Given the description of an element on the screen output the (x, y) to click on. 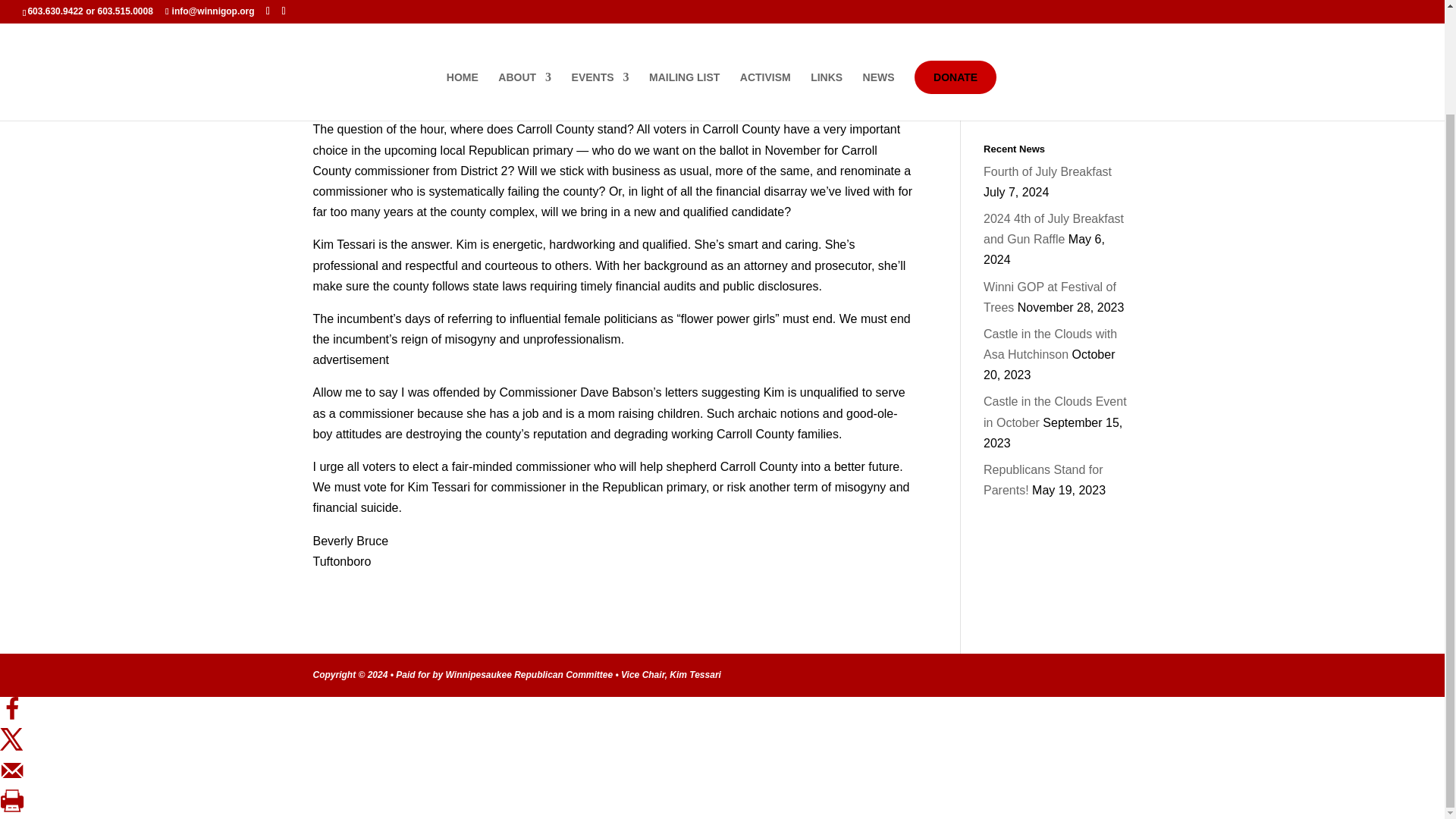
Search (1106, 20)
Share on X (12, 747)
2024 4th of July Breakfast and Gun Raffle (1054, 228)
Print this webpage (12, 808)
Republicans Stand for Parents! (1043, 479)
Send over email (12, 777)
Search (1106, 20)
Castle in the Clouds with Asa Hutchinson (1050, 344)
Fourth of July Breakfast (1048, 171)
Share on Facebook (12, 716)
Winni GOP at Festival of Trees (1050, 296)
Castle in the Clouds Event in October (1055, 411)
